Given the description of an element on the screen output the (x, y) to click on. 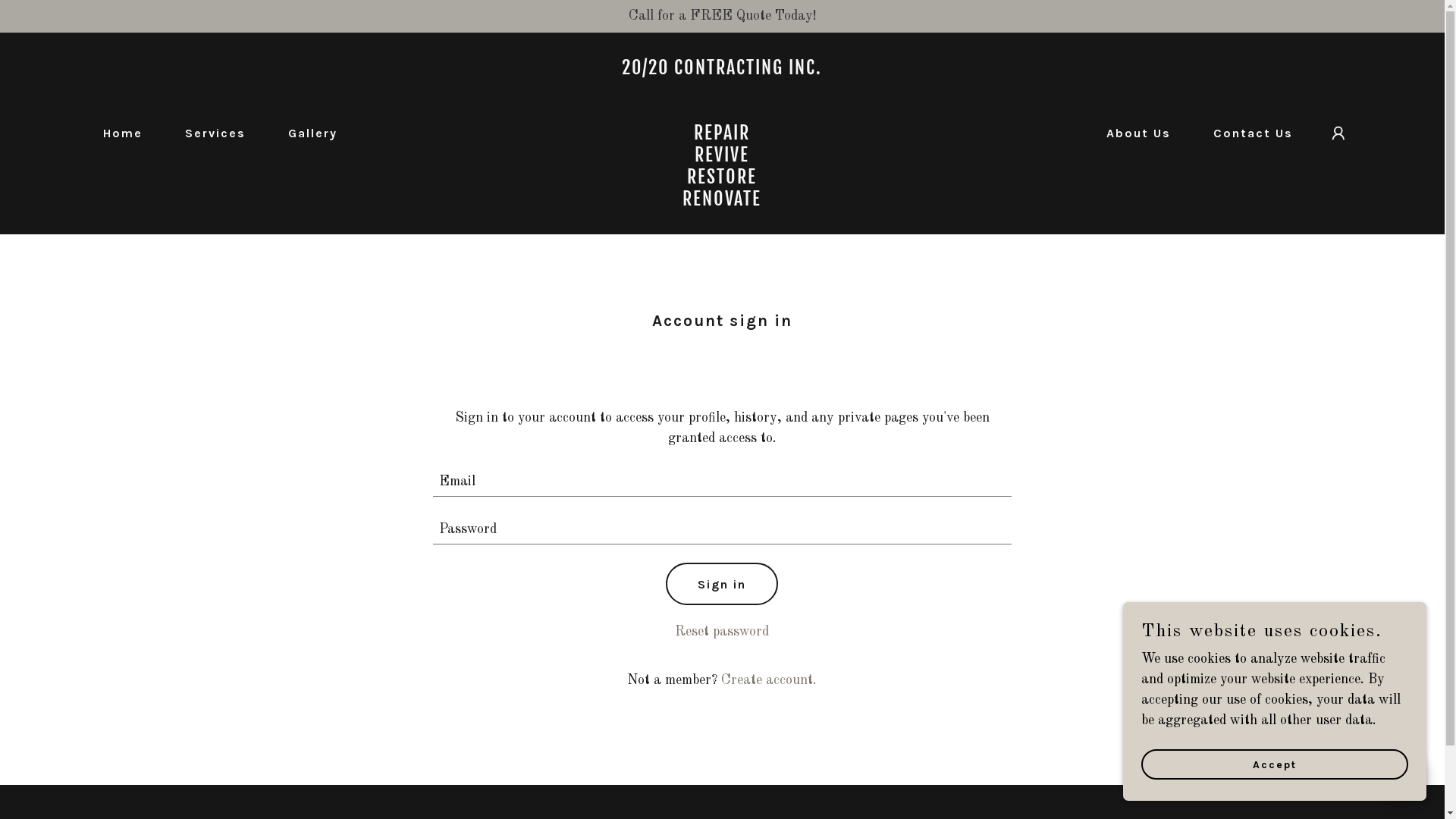
Sign in Element type: text (721, 583)
Services Element type: text (209, 133)
Accept Element type: text (1274, 764)
Create account. Element type: text (768, 680)
About Us Element type: text (1132, 133)
Reset password Element type: text (721, 631)
Home Element type: text (116, 133)
20/20 CONTRACTING INC.


REPAIR
REVIVE
RESTORE
RENOVATE Element type: text (721, 201)
Gallery Element type: text (306, 133)
Contact Us Element type: text (1246, 133)
